Given the description of an element on the screen output the (x, y) to click on. 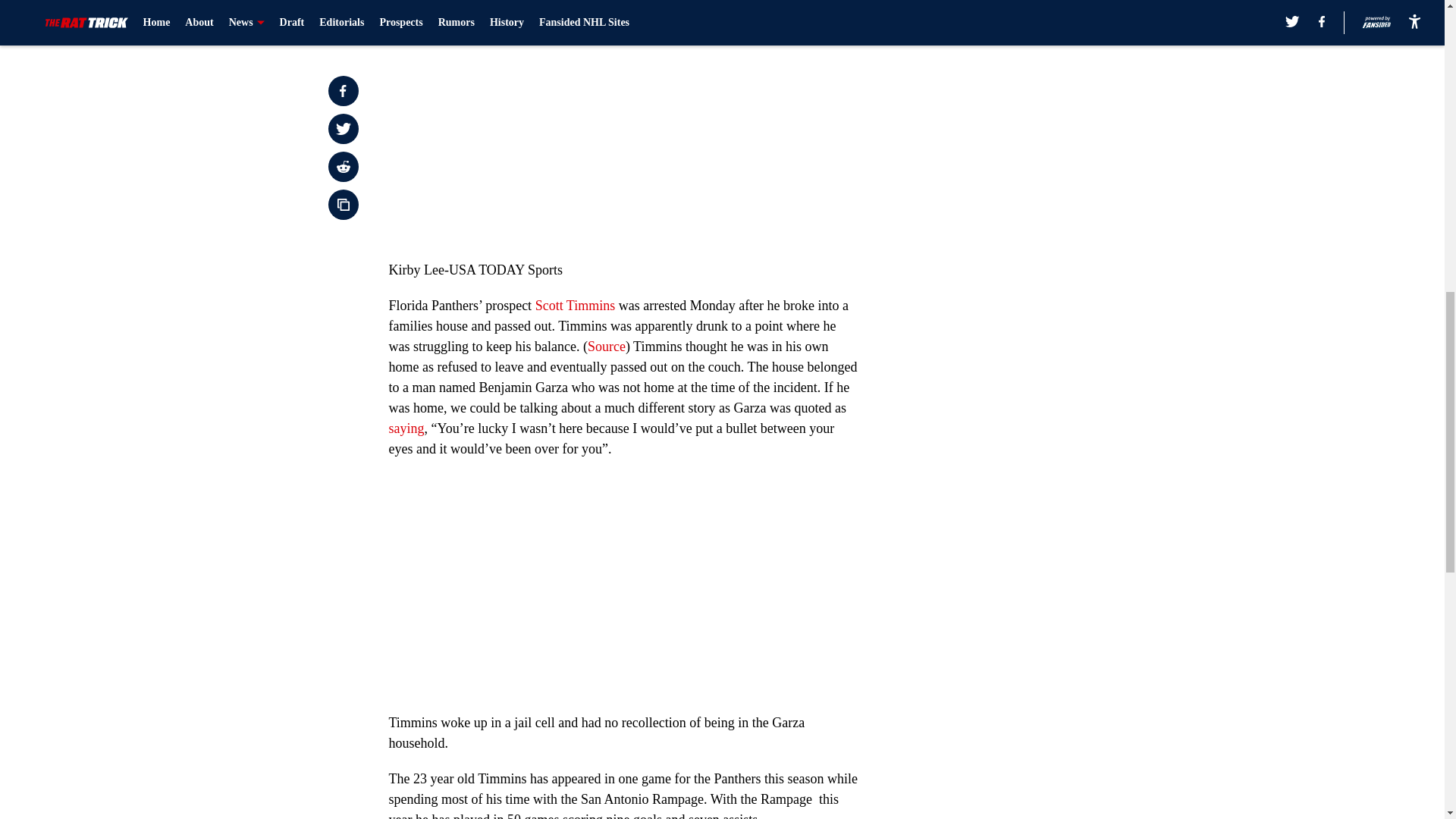
3rd party ad content (1047, 84)
Scott Timmins (575, 305)
Source (607, 346)
saying (405, 427)
3rd party ad content (1047, 294)
